Given the description of an element on the screen output the (x, y) to click on. 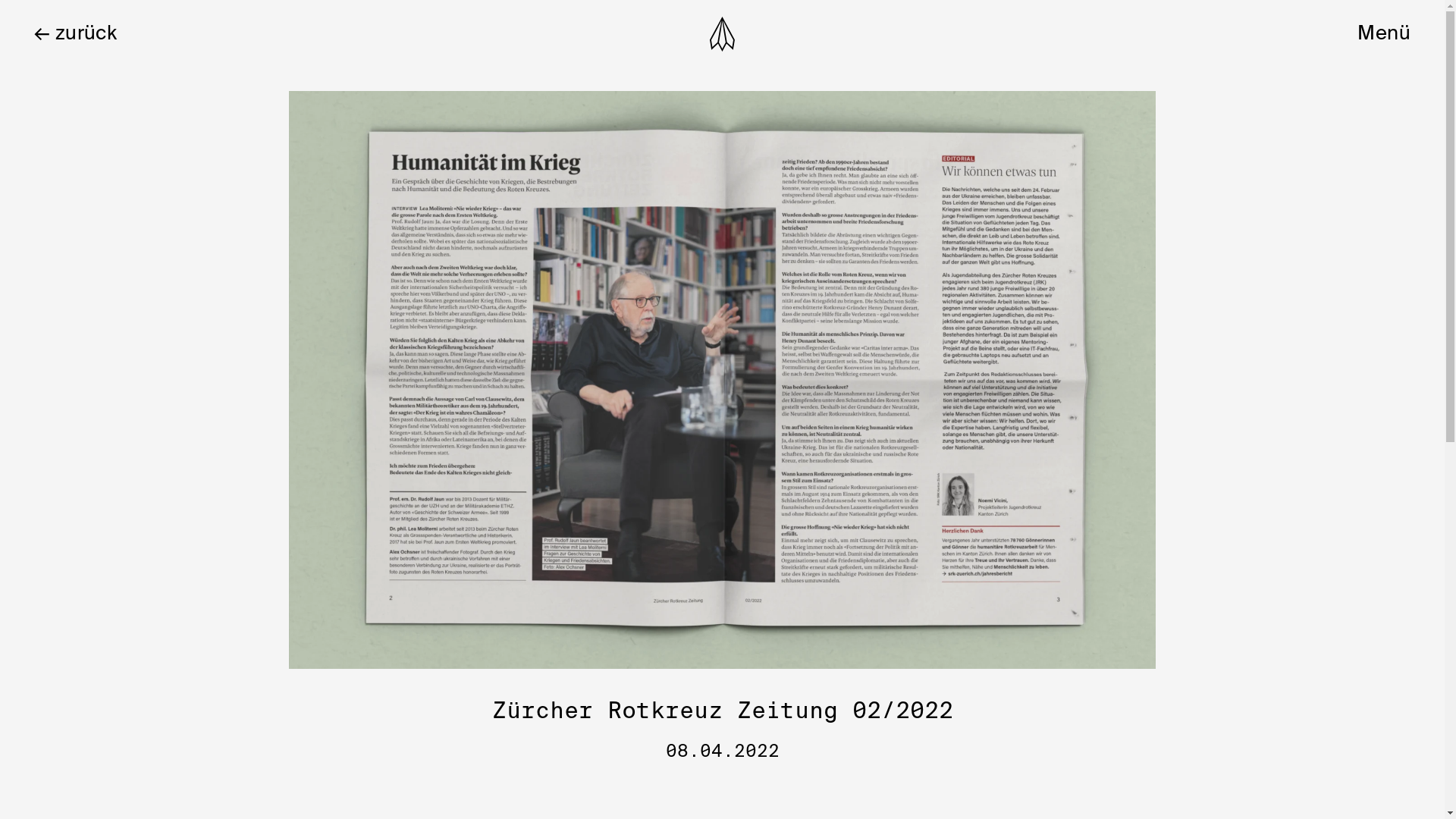
zrz-02-2022-02 Element type: hover (723, 379)
